Given the description of an element on the screen output the (x, y) to click on. 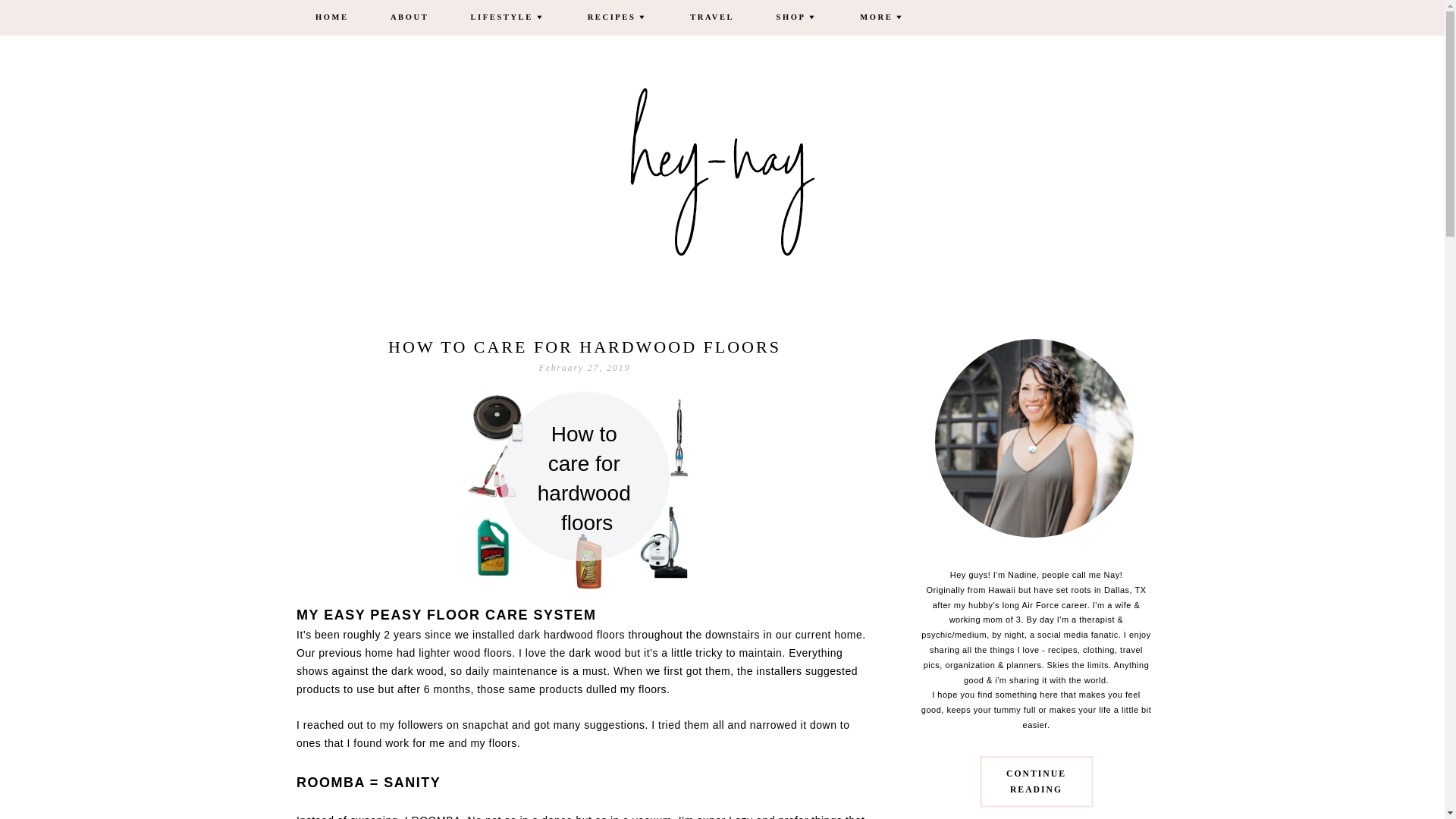
SHOP (797, 18)
RECIPES (617, 18)
MORE (882, 18)
TRAVEL (711, 18)
LIFESTYLE (507, 18)
HOME (332, 18)
ABOUT (408, 18)
